Given the description of an element on the screen output the (x, y) to click on. 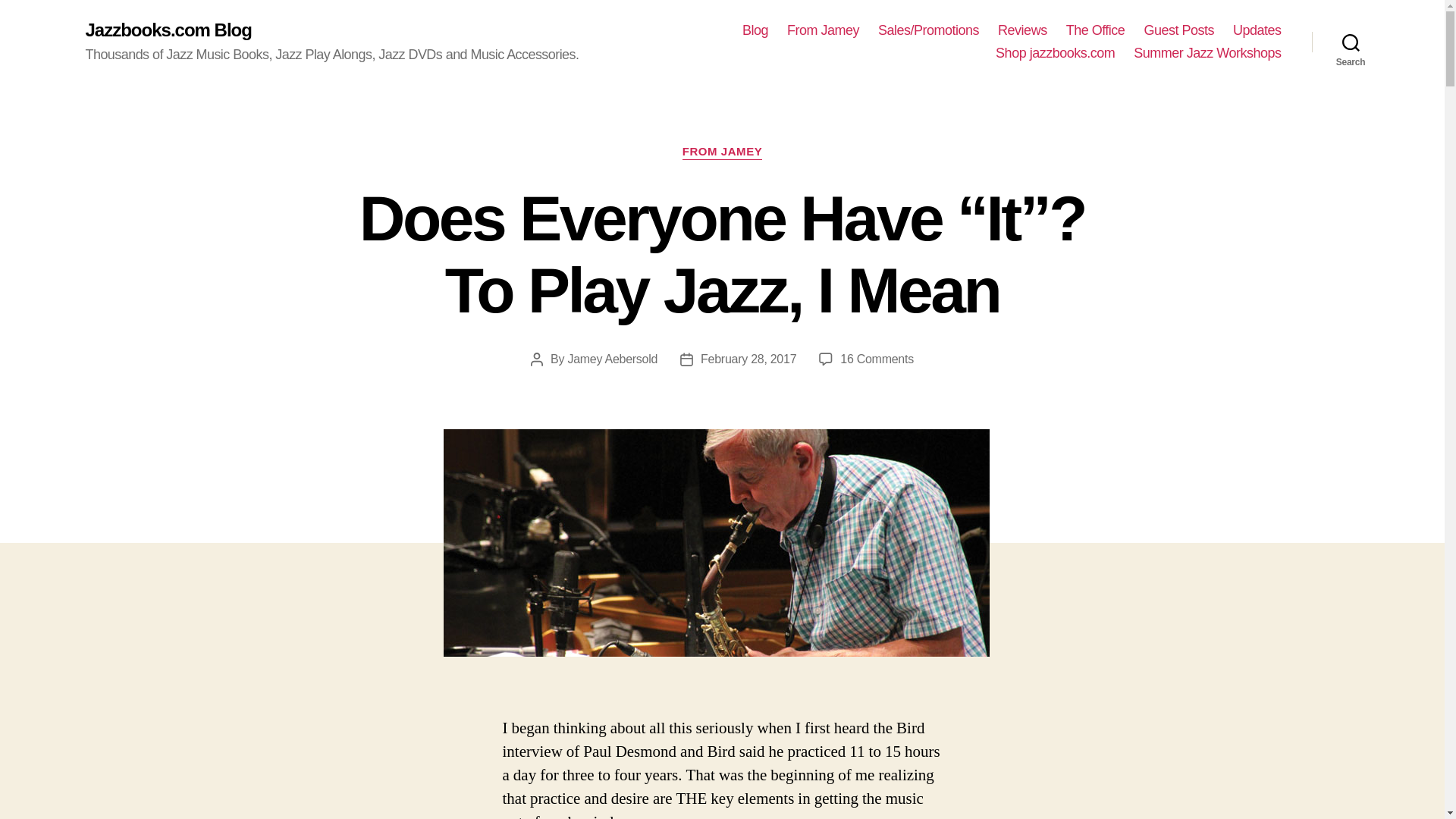
February 28, 2017 (748, 358)
Shop jazzbooks.com (1055, 53)
Updates (1257, 30)
Guest Posts (1178, 30)
The Office (1095, 30)
Reviews (1021, 30)
Jamey Aebersold (612, 358)
From Jamey (823, 30)
Jazzbooks.com Blog (167, 30)
Summer Jazz Workshops (1207, 53)
